Given the description of an element on the screen output the (x, y) to click on. 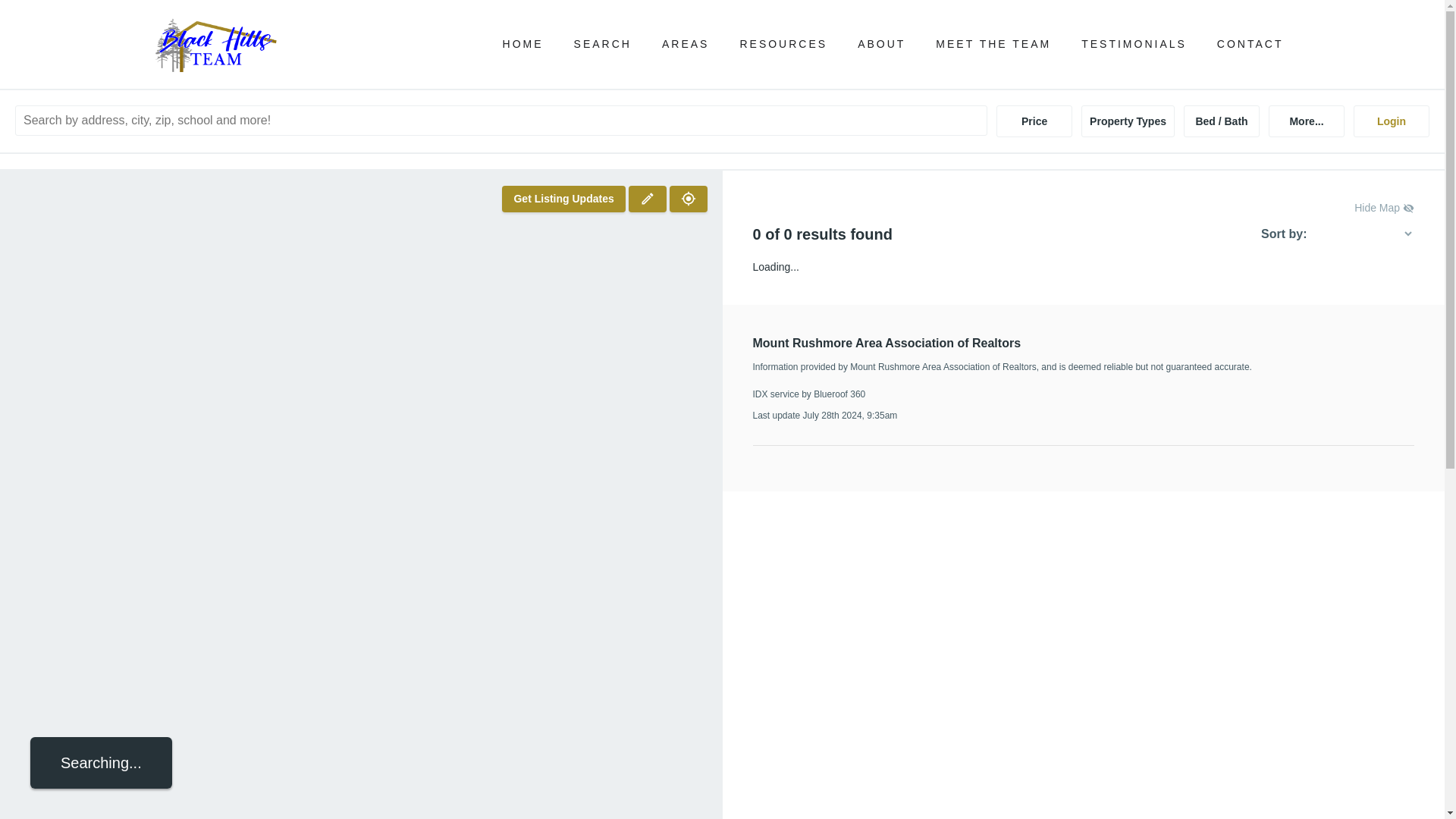
Nearby Search (687, 198)
SEARCH (602, 44)
ABOUT (881, 44)
AREAS (685, 44)
RESOURCES (783, 44)
Get Listing Updates (563, 198)
Hide Map (1383, 208)
CONTACT (1250, 44)
Login (1391, 121)
Draw (647, 198)
HOME (522, 44)
TESTIMONIALS (1133, 44)
MEET THE TEAM (993, 44)
